Given the description of an element on the screen output the (x, y) to click on. 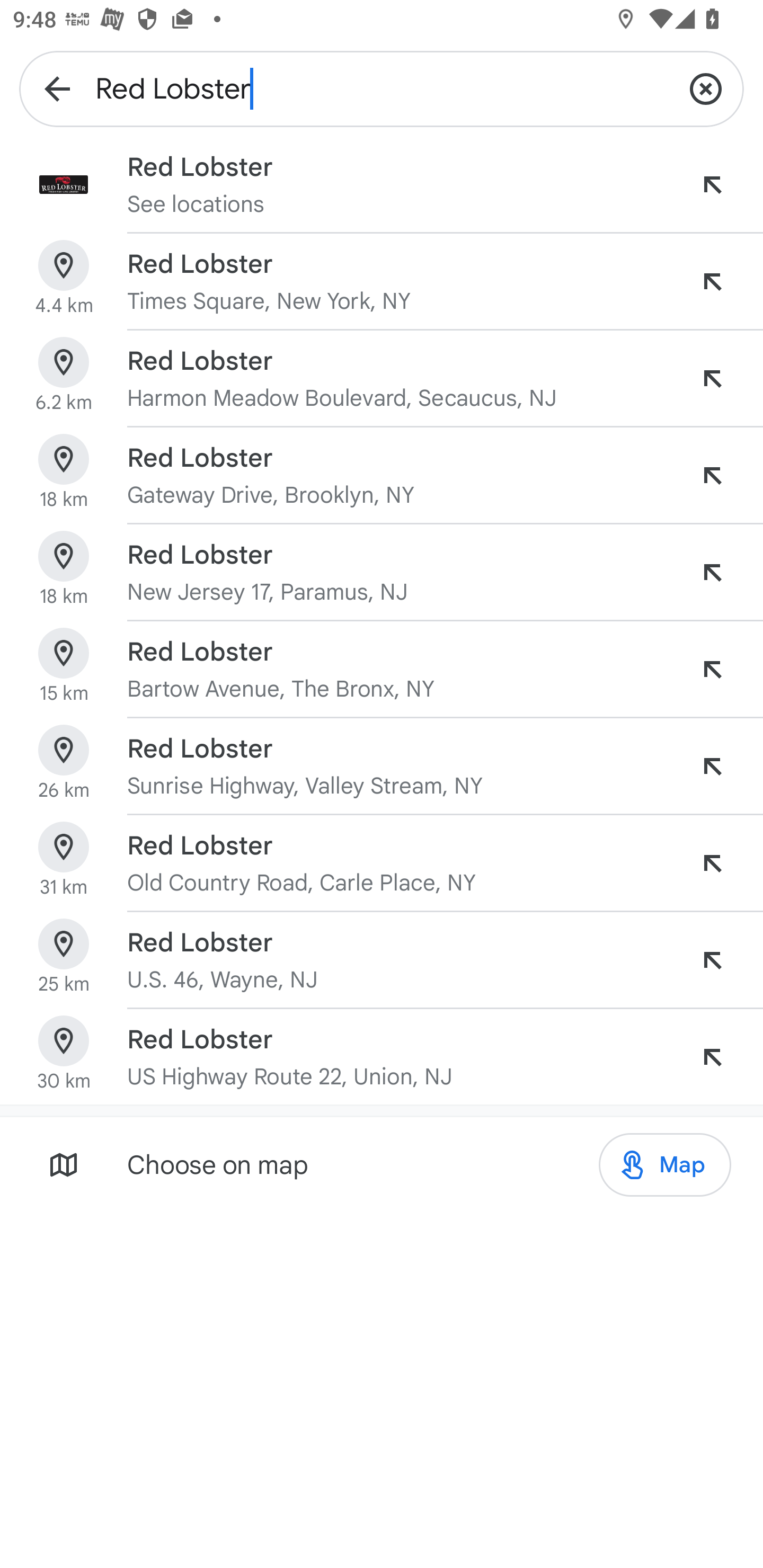
Navigate up (57, 88)
Red Lobster (381, 88)
Clear (705, 88)
Choose on map Map Map Map (381, 1164)
Map Map Map (664, 1164)
